Given the description of an element on the screen output the (x, y) to click on. 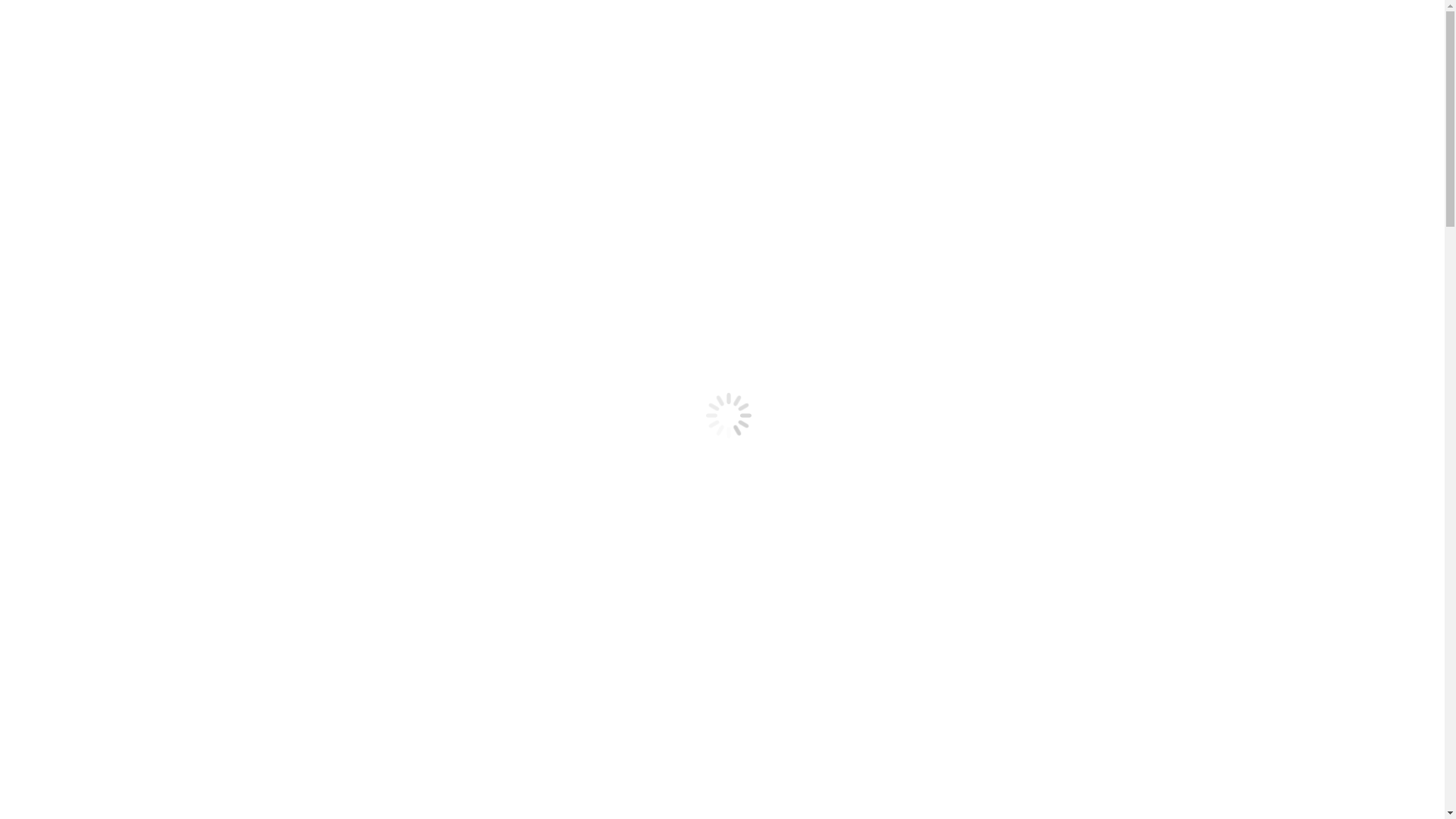
Products Element type: text (57, 531)
Facebook page opens in new window Element type: text (97, 39)
Instagram page opens in new window Element type: text (450, 39)
Etn Speaker Category Element type: text (89, 206)
Etn Speaker Category Element type: text (89, 490)
2021 Element type: text (48, 658)
Sample Page Element type: text (67, 545)
Hello world! Element type: text (43, 716)
Etn Tags Element type: text (57, 220)
Eventer Shortcode Preview Page Element type: text (115, 517)
Donation Failed Element type: text (75, 166)
Donation Confirmation Element type: text (93, 435)
Etn Category Element type: text (68, 193)
Etn Category Element type: text (68, 476)
Donation Confirmation Element type: text (93, 152)
1 Comment Element type: text (297, 744)
$0.000 Element type: text (22, 287)
Eventer Shortcode Preview Page Element type: text (115, 234)
Search form Element type: hover (73, 380)
November 20, 2021 Element type: text (221, 744)
Products Element type: text (57, 247)
Uncategorized Element type: text (41, 744)
Skip to content Element type: text (42, 12)
Checkout Element type: text (78, 313)
Twitter page opens in new window Element type: text (272, 39)
Checkout-Result Element type: text (77, 138)
By Richard Maduro Element type: text (124, 744)
Etn Tags Element type: text (57, 504)
Sample Page Element type: text (67, 261)
YouTube page opens in new window Element type: text (631, 39)
Home Element type: text (50, 645)
Donation Failed Element type: text (75, 449)
Go! Element type: text (20, 396)
Donor Dashboard Element type: text (79, 463)
View Cart Element type: text (30, 313)
Donor Dashboard Element type: text (79, 179)
Checkout-Result Element type: text (77, 422)
November Element type: text (61, 672)
